Given the description of an element on the screen output the (x, y) to click on. 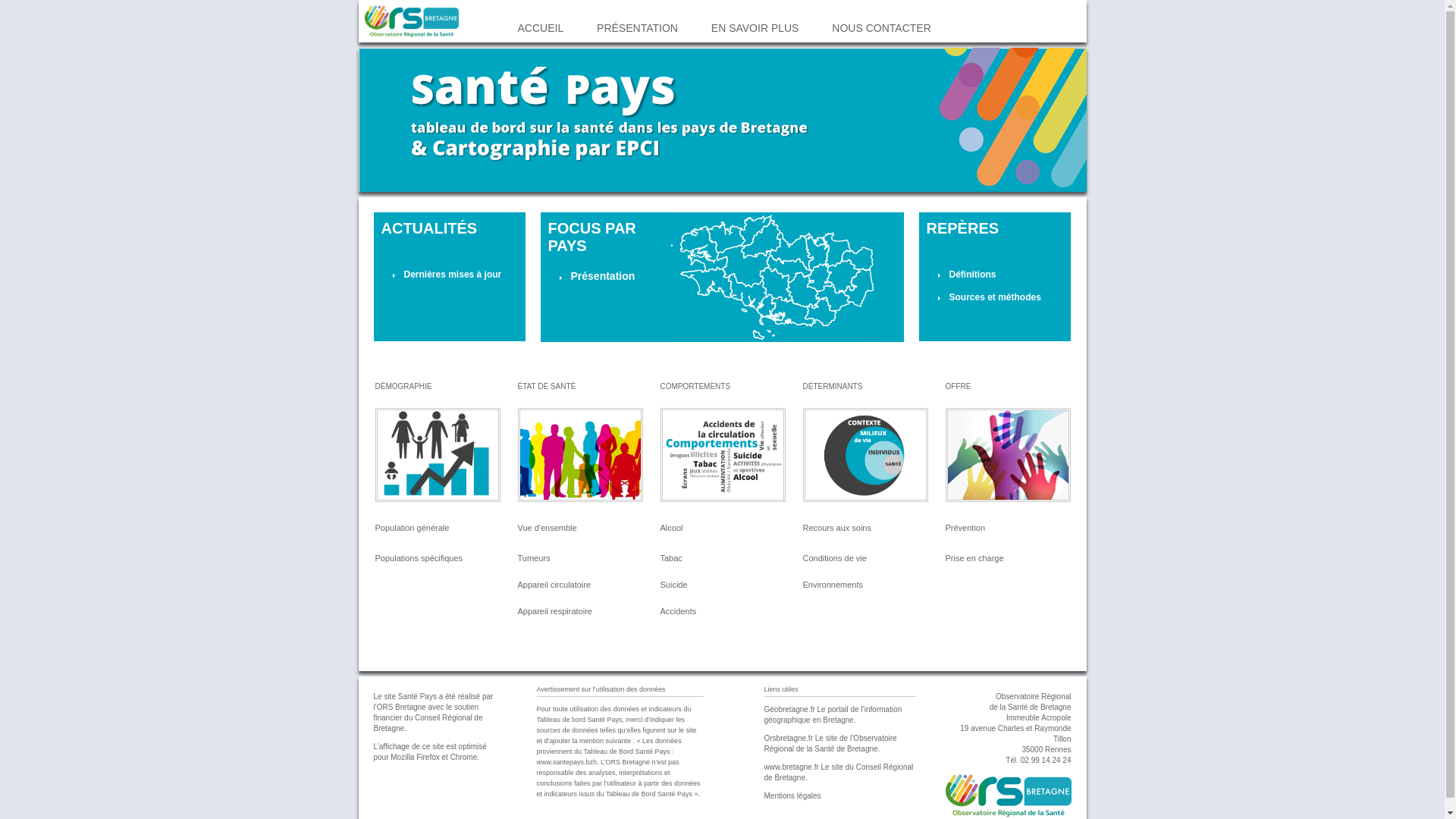
Prise en charge Element type: text (973, 557)
Appareil respiratoire Element type: text (554, 610)
Tumeurs Element type: text (533, 557)
Tabac Element type: text (670, 557)
Appareil circulatoire Element type: text (553, 584)
Recours aux soins Element type: text (836, 527)
Conditions de vie Element type: text (834, 557)
ACCUEIL Element type: text (540, 27)
Vue d'ensemble Element type: text (546, 527)
Accidents Element type: text (677, 610)
NOUS CONTACTER Element type: text (880, 27)
www.bretagne.fr Element type: text (791, 766)
Environnements Element type: text (832, 584)
Orsbretagne.fr Element type: text (788, 738)
EN SAVOIR PLUS Element type: text (755, 27)
Suicide Element type: text (673, 584)
Alcool Element type: text (670, 527)
